Given the description of an element on the screen output the (x, y) to click on. 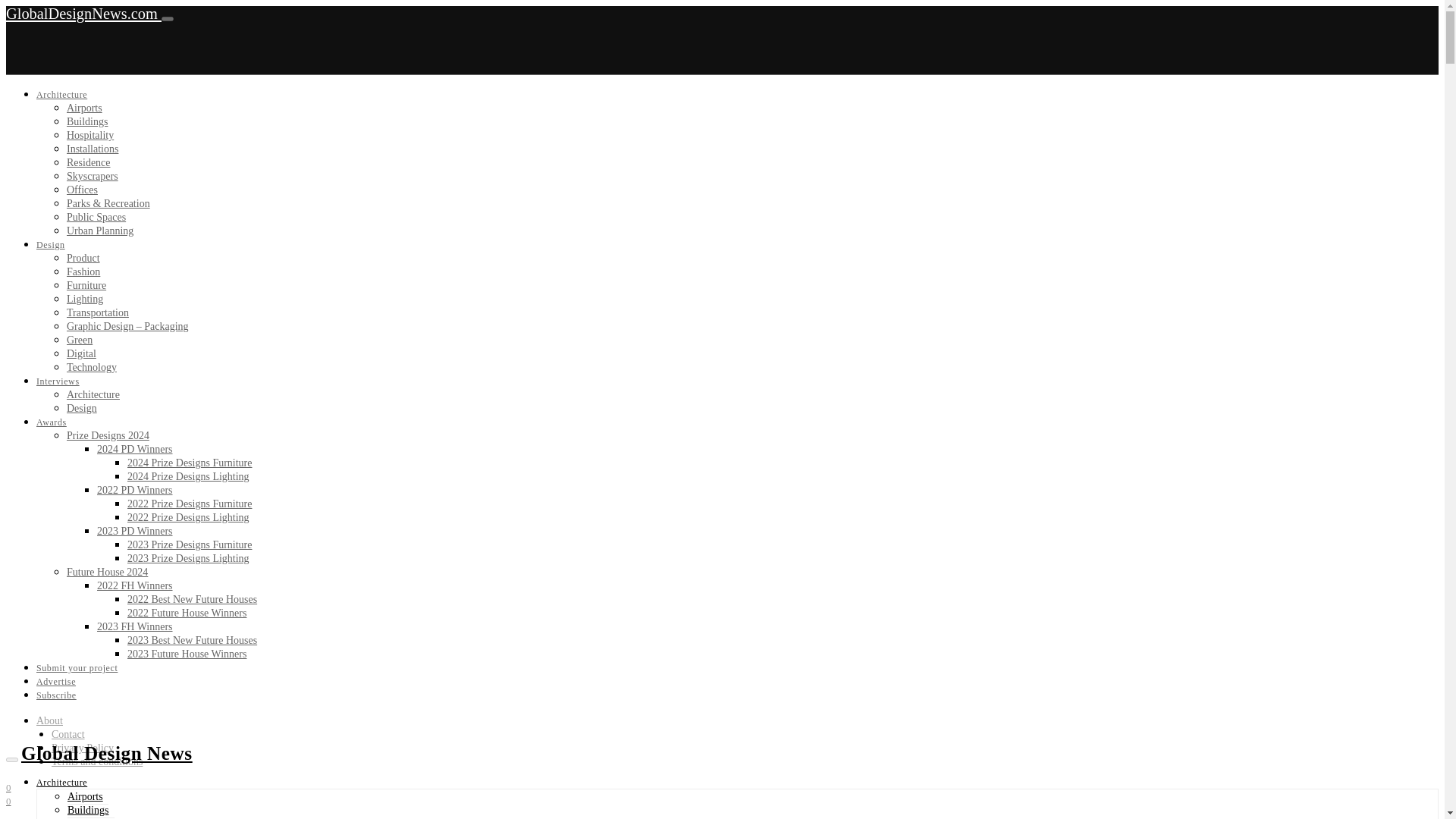
Transportation (97, 312)
Lighting (84, 298)
Design (81, 408)
2023 PD Winners (135, 531)
Airports (83, 107)
GlobalDesignNews.com (83, 13)
Furniture (86, 285)
Architecture (61, 94)
2023 Prize Designs Lighting (188, 558)
Future House 2024 (107, 572)
